Given the description of an element on the screen output the (x, y) to click on. 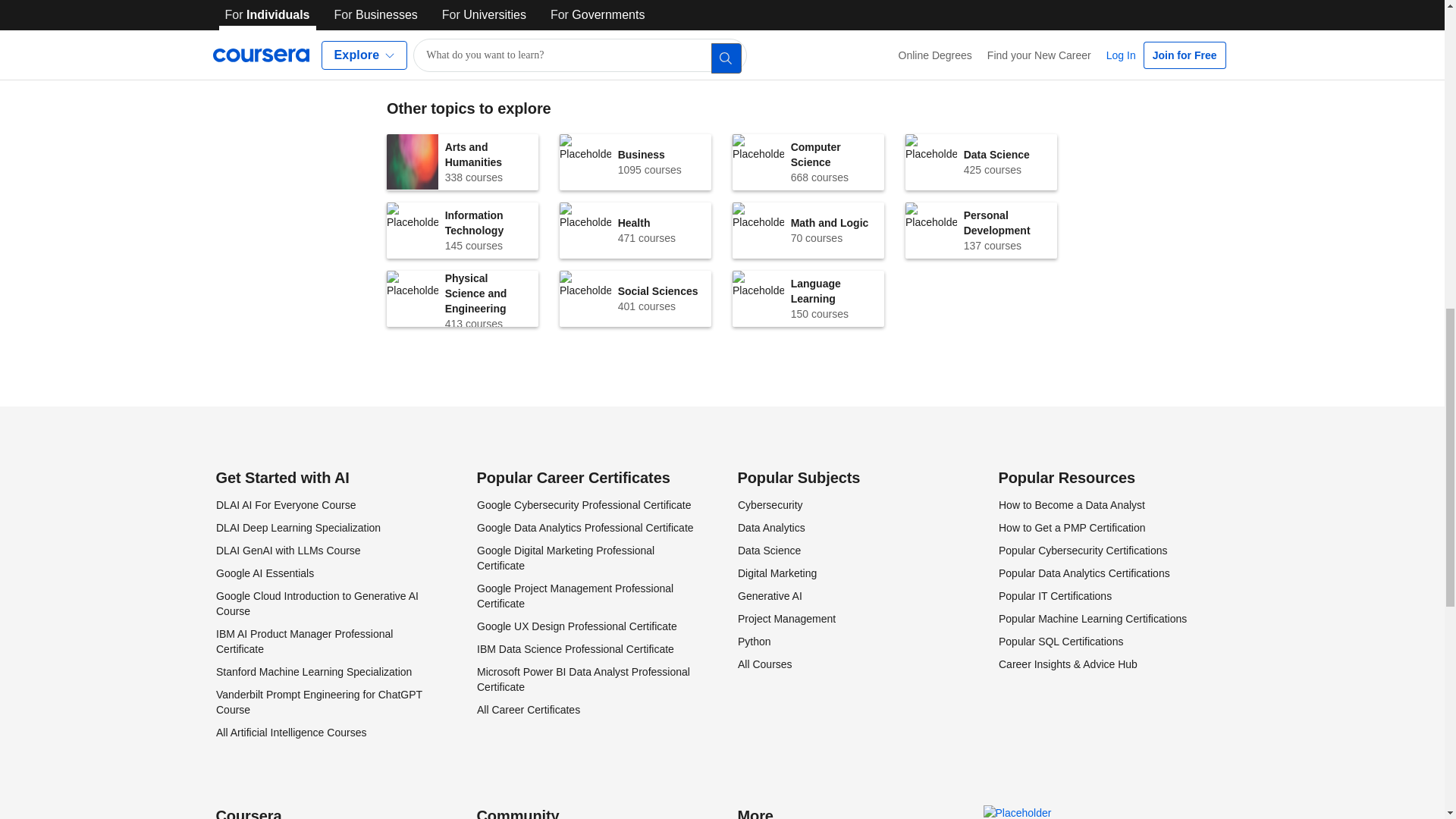
IBM AI Product Manager Professional Certificate (303, 641)
All Artificial Intelligence Courses (290, 732)
Google AI Essentials (264, 573)
Google Cloud Introduction to Generative AI Course (807, 162)
Google Cybersecurity Professional Certificate (316, 603)
DLAI Deep Learning Specialization (583, 504)
DLAI AI For Everyone Course (297, 527)
DLAI GenAI with LLMs Course (981, 162)
